Given the description of an element on the screen output the (x, y) to click on. 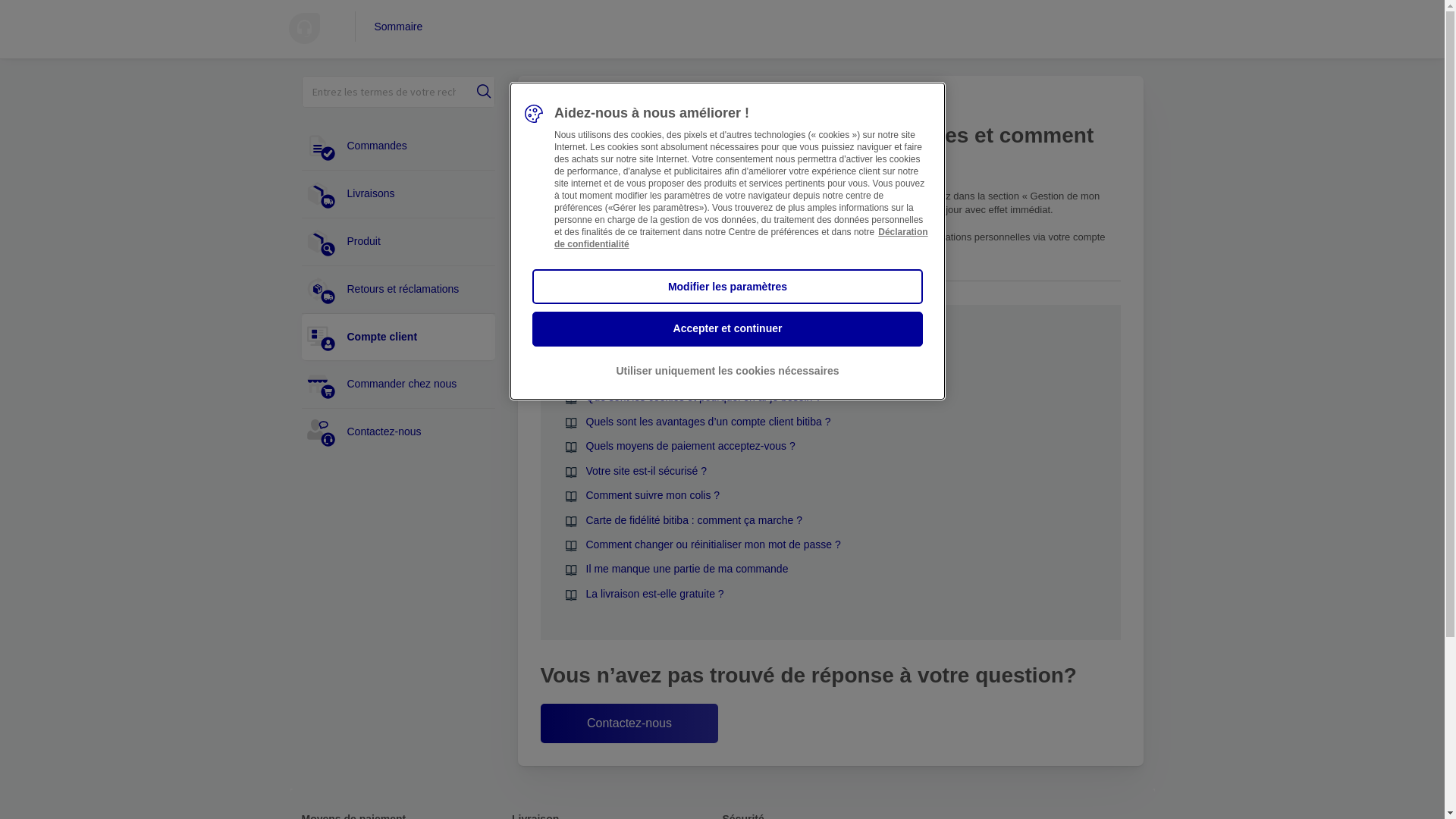
ACCUEIL Element type: text (560, 105)
Commandes Element type: text (399, 145)
La livraison est-elle gratuite ? Element type: text (654, 593)
MON COMPTE Element type: text (721, 105)
Il me manque une partie de ma commande Element type: text (686, 568)
COMPTE CLIENT Element type: text (635, 105)
Sommaire Element type: text (388, 26)
Livraisons Element type: text (399, 193)
Compte client Element type: text (399, 336)
Que sont les cookies et pourquoi en ai-je besoin ? Element type: text (703, 397)
Mon compte  Element type: text (882, 195)
Contactez-nous Element type: text (399, 431)
Accepter et continuer Element type: text (727, 328)
Quels moyens de paiement acceptez-vous ? Element type: text (689, 445)
Comment suivre mon colis ? Element type: text (652, 495)
Quels modes de paiement proposez-vous ? Element type: text (687, 372)
Produit Element type: text (399, 241)
Commander chez nous Element type: text (399, 383)
Contactez-nous Element type: text (628, 723)
